Given the description of an element on the screen output the (x, y) to click on. 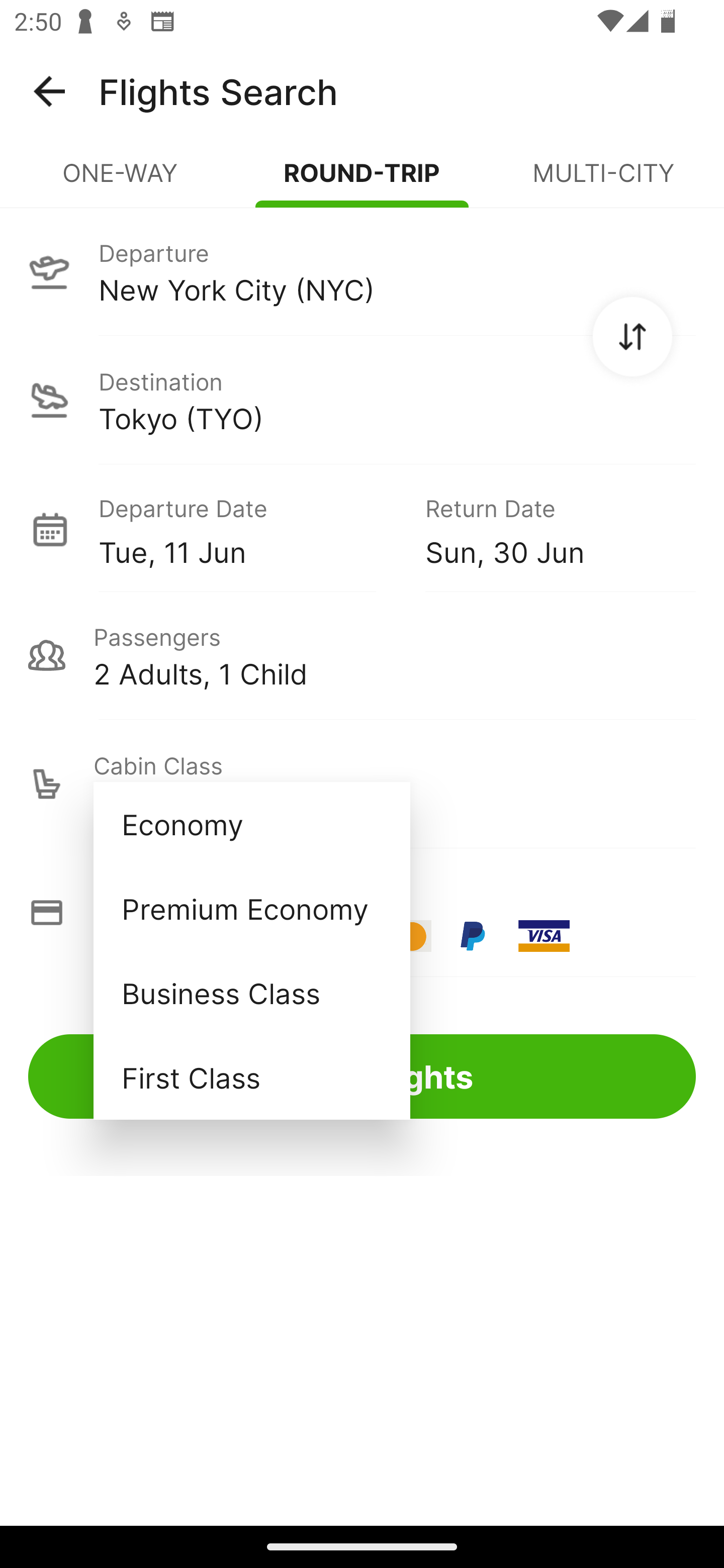
Economy (251, 824)
Premium Economy (251, 908)
Business Class (251, 992)
First Class (251, 1076)
